Given the description of an element on the screen output the (x, y) to click on. 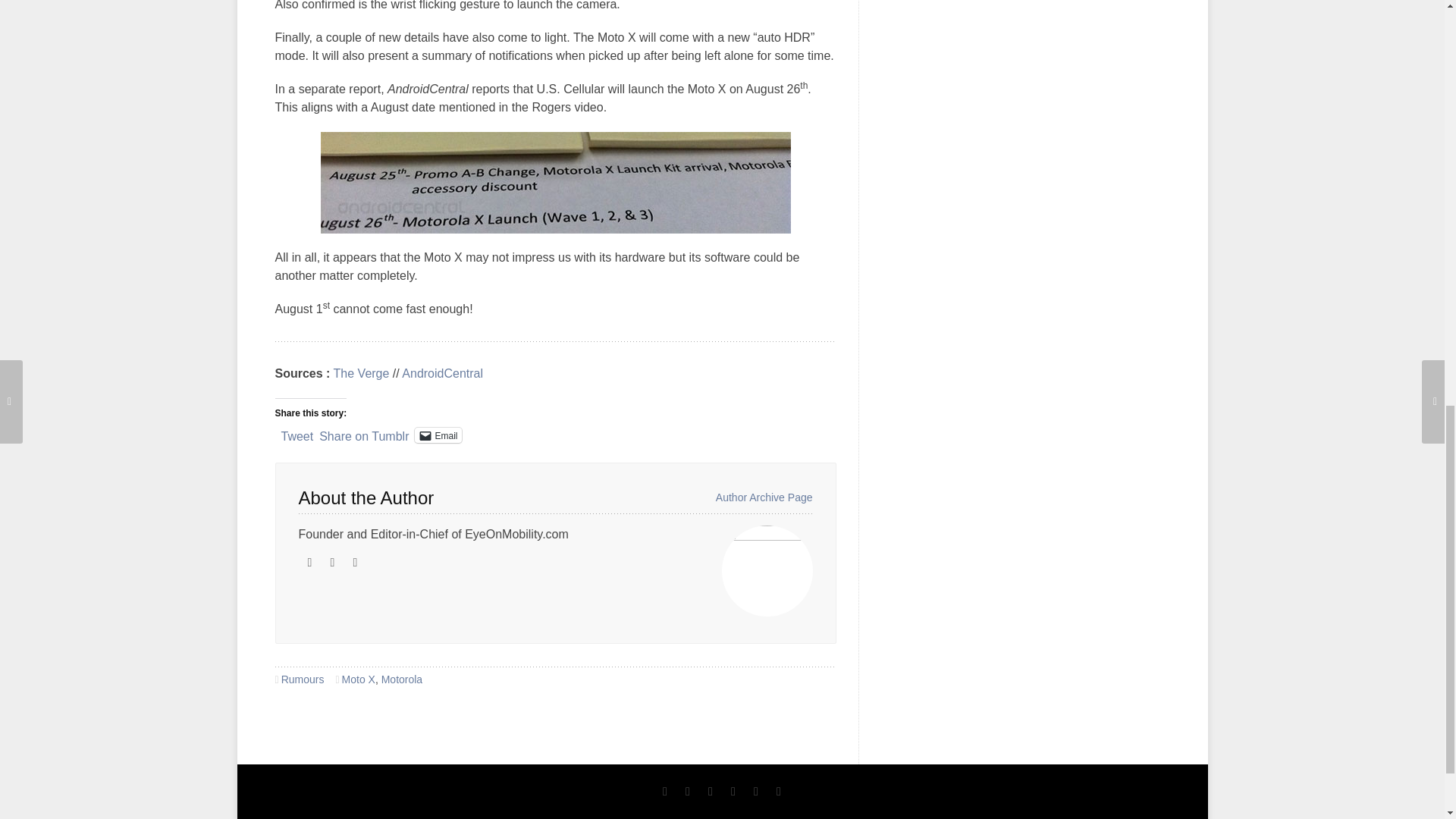
The Verge (361, 373)
Motorola (401, 679)
AndroidCentral (442, 373)
Jerome Skalnik's RSS Feed (332, 562)
AndroidCentral (442, 373)
Share on Tumblr (363, 434)
Click to email a link to a friend (437, 435)
Jerome Skalnik's Website (309, 562)
Rumours (302, 679)
Moto X (358, 679)
